Given the description of an element on the screen output the (x, y) to click on. 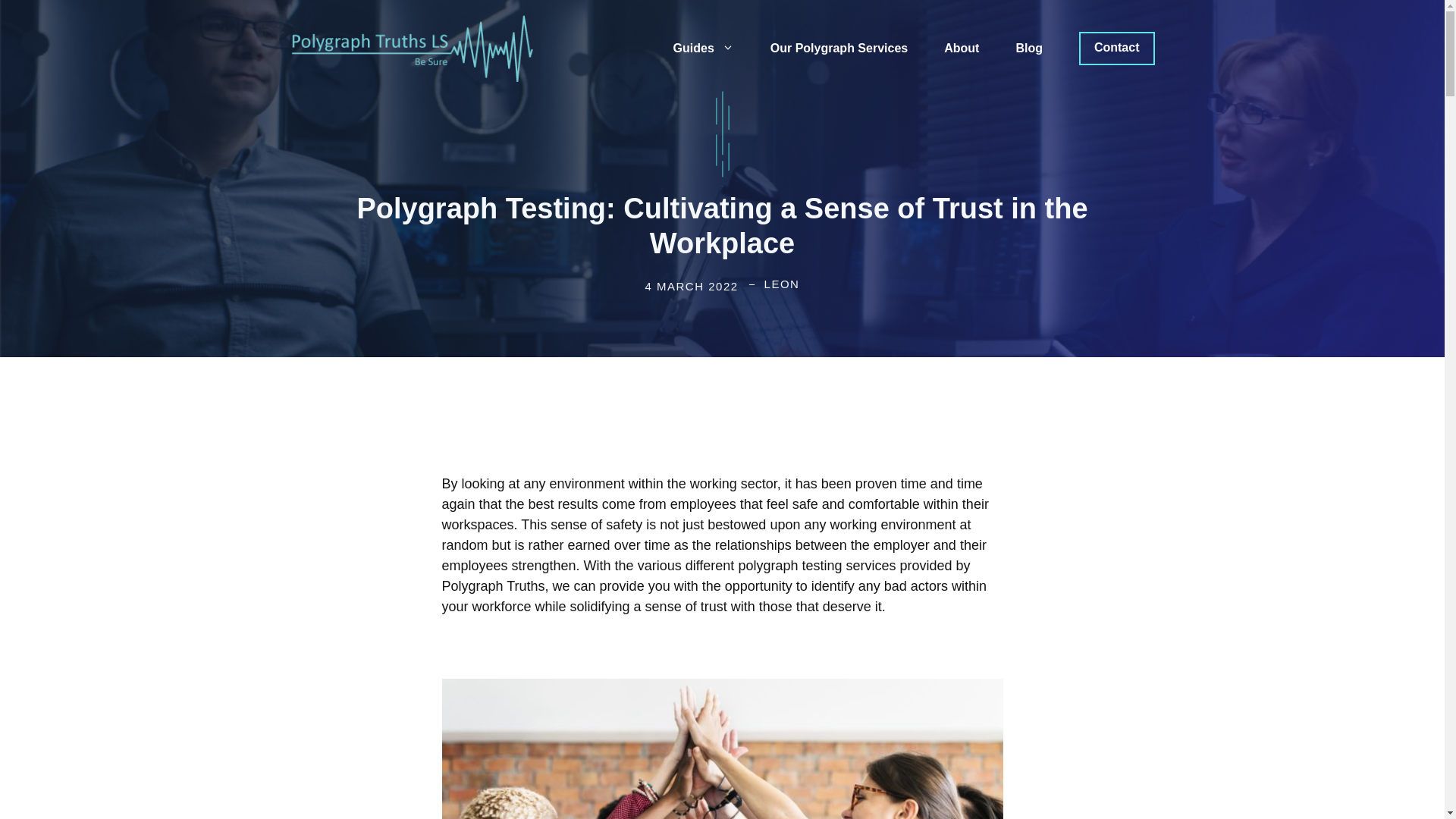
Contact (1116, 48)
About (961, 48)
Guides (703, 48)
Blog (1029, 48)
Our Polygraph Services (839, 48)
